Given the description of an element on the screen output the (x, y) to click on. 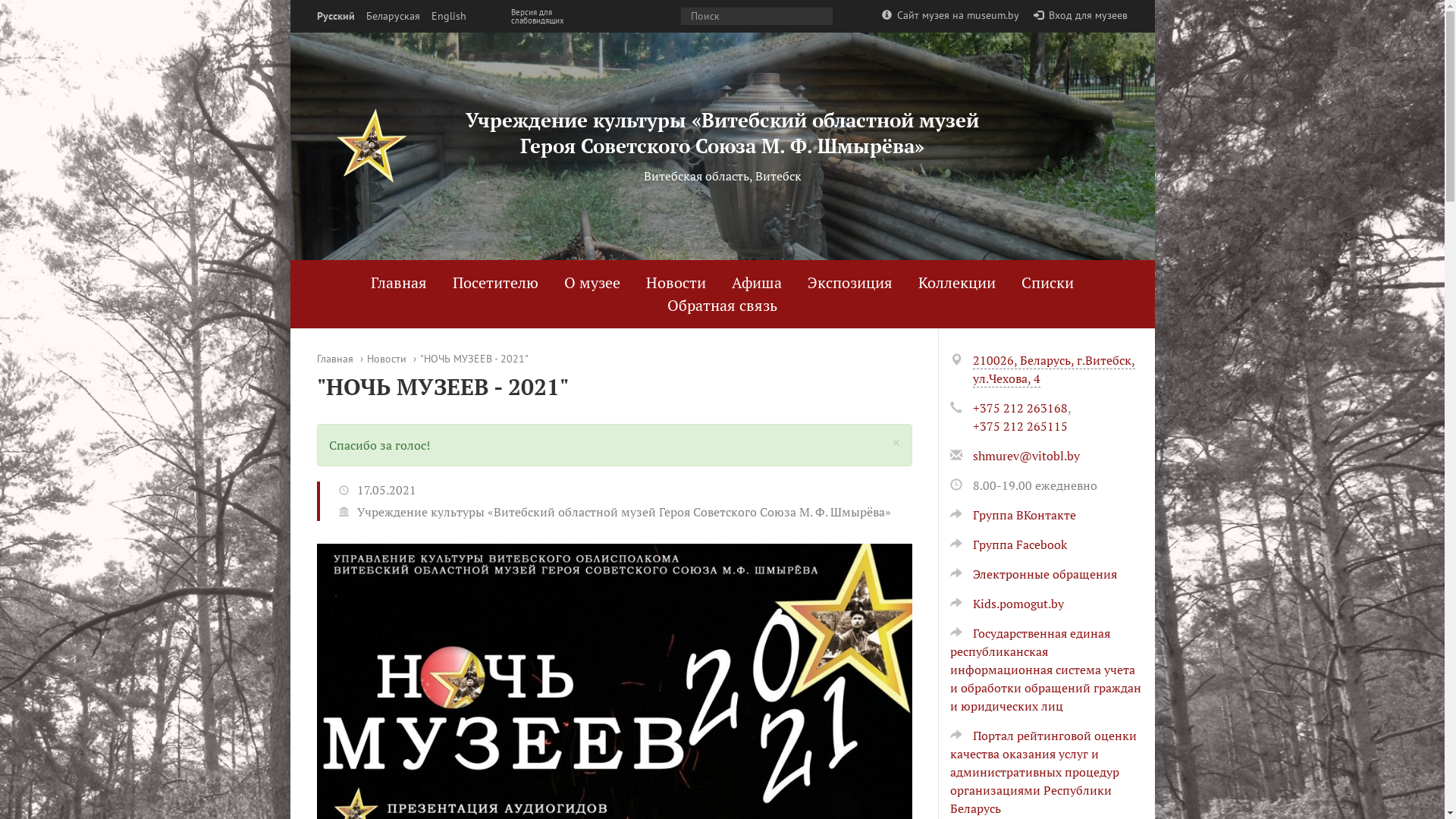
English Element type: text (447, 16)
+375 212 263168 Element type: text (1019, 407)
+375 212 265115 Element type: text (1019, 426)
shmurev@vitobl.by Element type: text (1025, 455)
Kids.pomogut.by Element type: text (1006, 603)
